Given the description of an element on the screen output the (x, y) to click on. 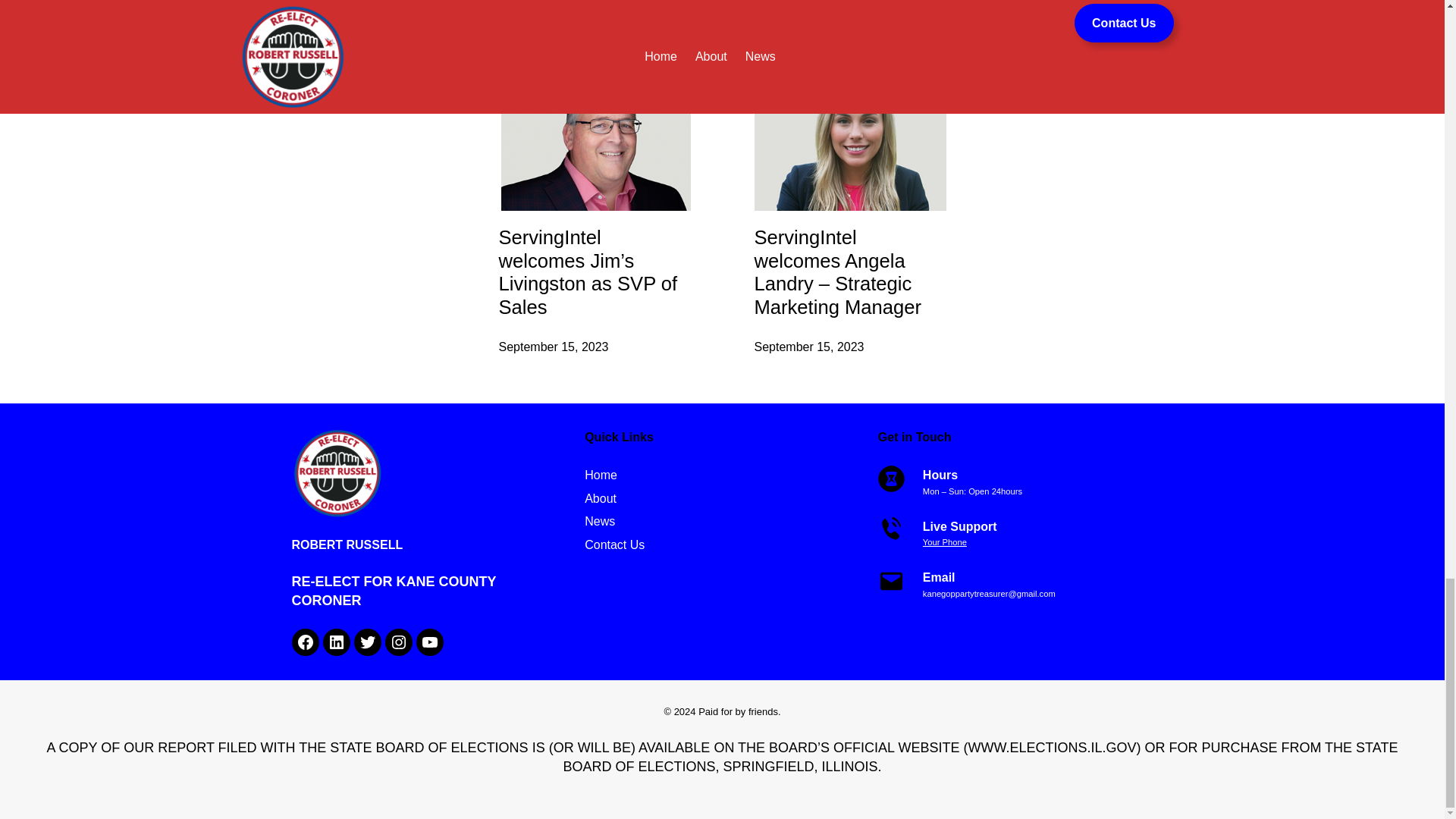
Twitter (366, 642)
Facebook (304, 642)
Home (601, 475)
YouTube (428, 642)
About (600, 498)
News (599, 521)
Instagram (398, 642)
LinkedIn (336, 642)
Your Phone (944, 542)
Contact Us (615, 545)
